Given the description of an element on the screen output the (x, y) to click on. 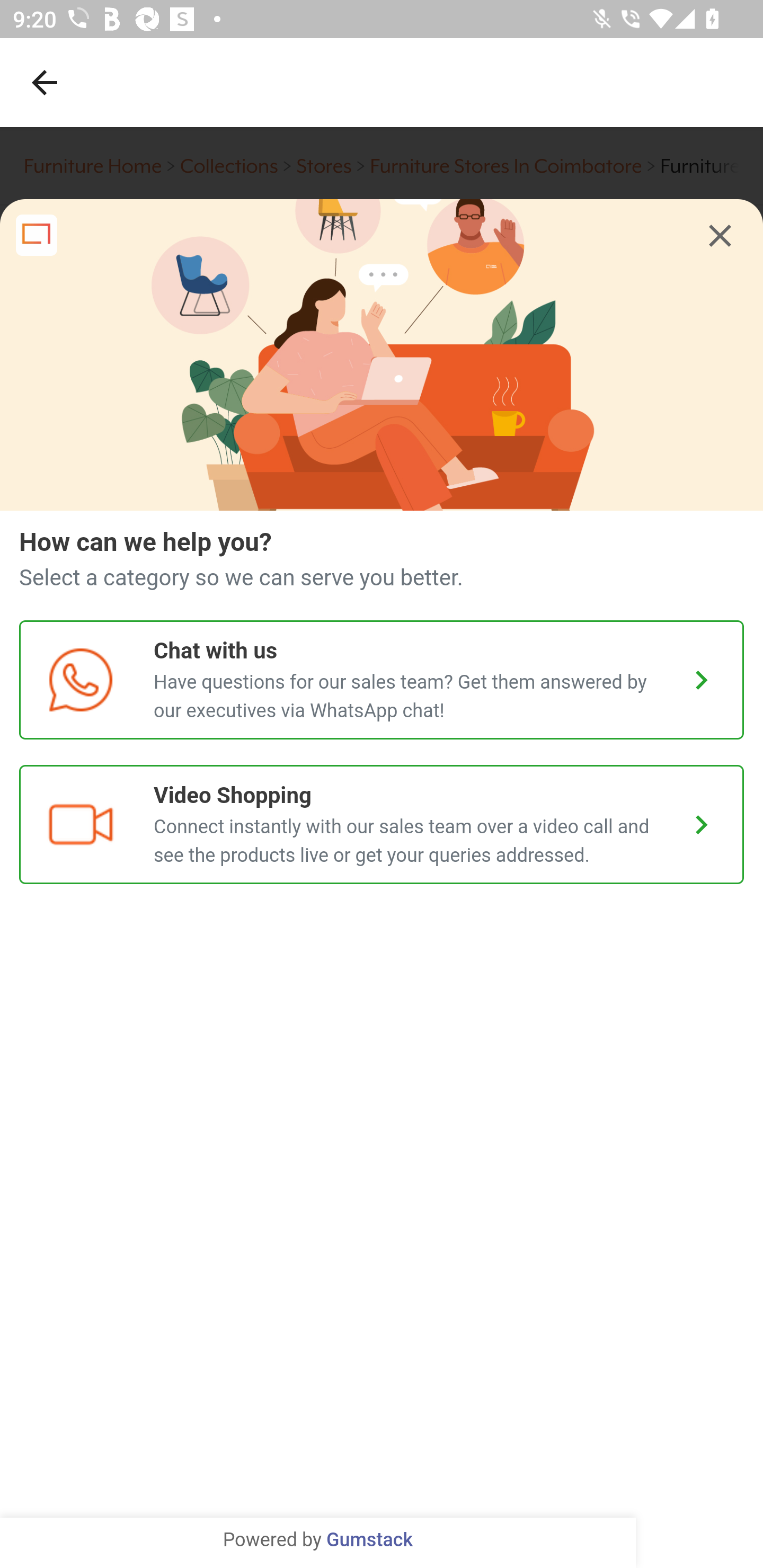
Navigate up (44, 82)
clear (720, 235)
SEE IN MAPS (381, 1530)
Gumstack (369, 1540)
